Given the description of an element on the screen output the (x, y) to click on. 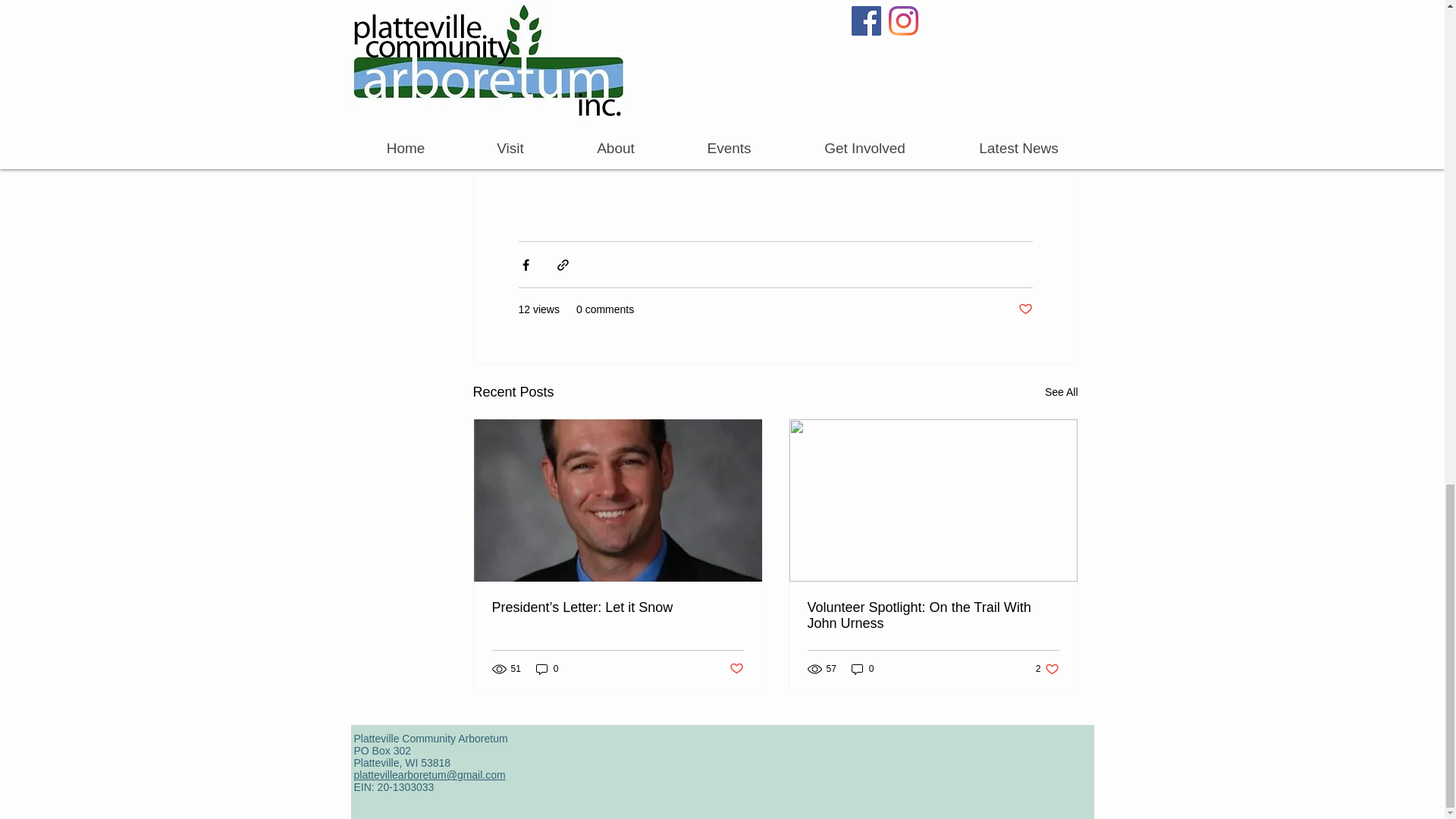
Volunteer Spotlight: On the Trail With John Urness (932, 615)
Post not marked as liked (1047, 668)
0 (1024, 309)
Post not marked as liked (547, 668)
See All (736, 668)
0 (1061, 392)
